Given the description of an element on the screen output the (x, y) to click on. 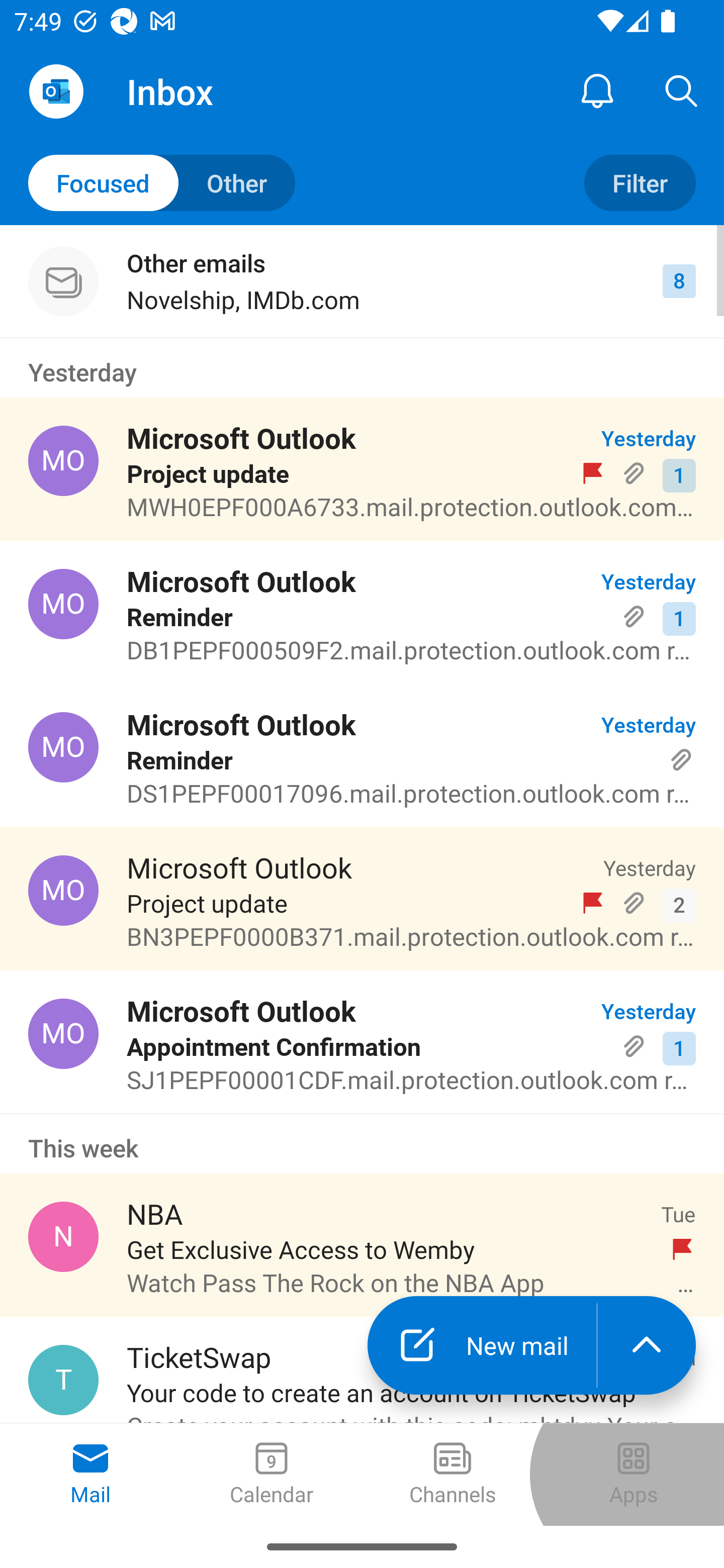
Notification Center (597, 90)
Search, ,  (681, 90)
Open Navigation Drawer (55, 91)
Toggle to other mails (161, 183)
Filter (639, 183)
Other emails Novelship, IMDb.com 8 (362, 281)
NBA, NBA@email.nba.com (63, 1236)
New mail (481, 1344)
launch the extended action menu (646, 1344)
TicketSwap, info@ticketswap.com (63, 1380)
Calendar (271, 1474)
Channels (452, 1474)
Apps (633, 1474)
